Given the description of an element on the screen output the (x, y) to click on. 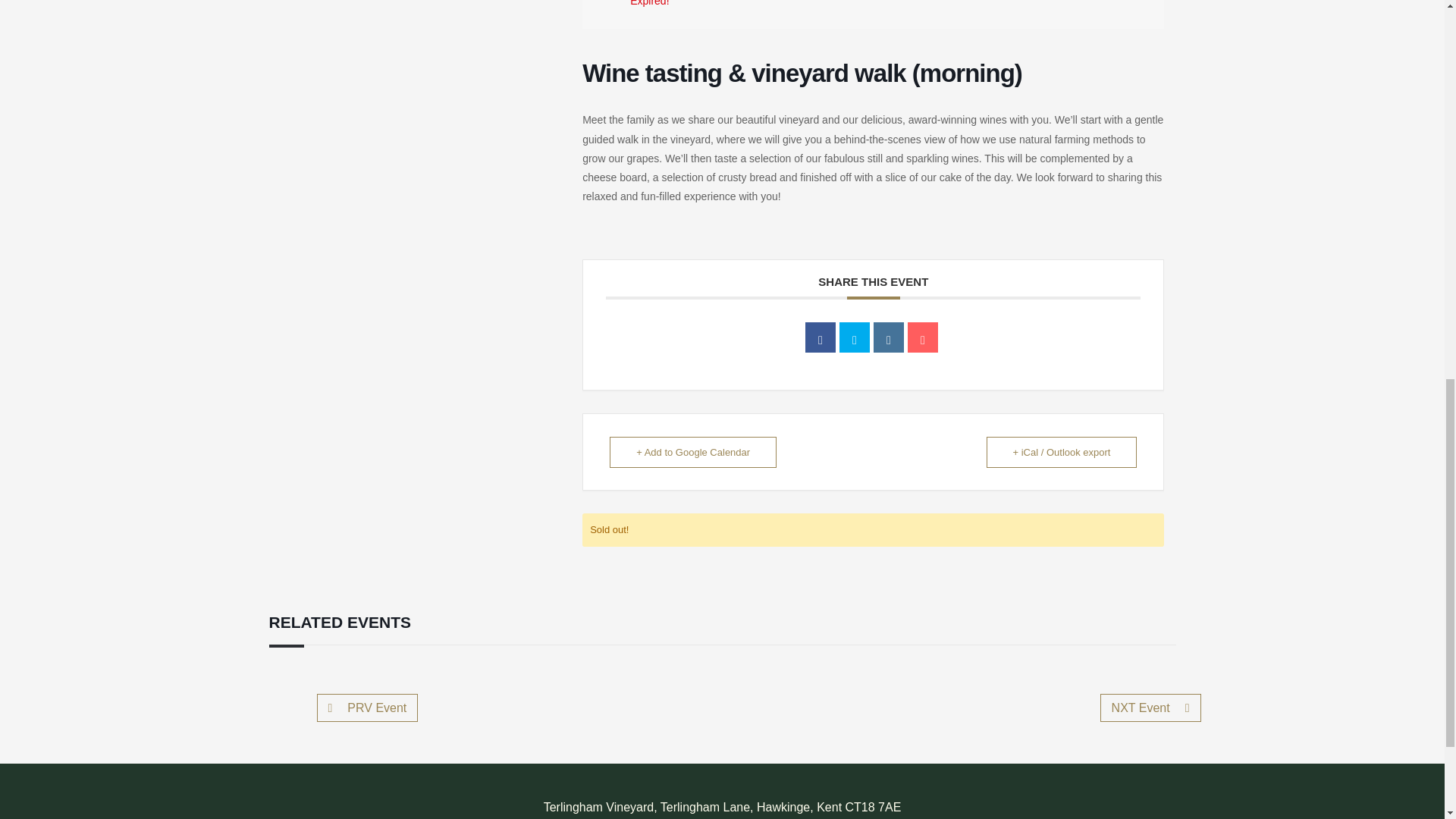
NXT Event (1150, 707)
Email (922, 337)
Linkedin (888, 337)
PRV Event (368, 707)
Tweet (854, 337)
Share on Facebook (820, 337)
